Given the description of an element on the screen output the (x, y) to click on. 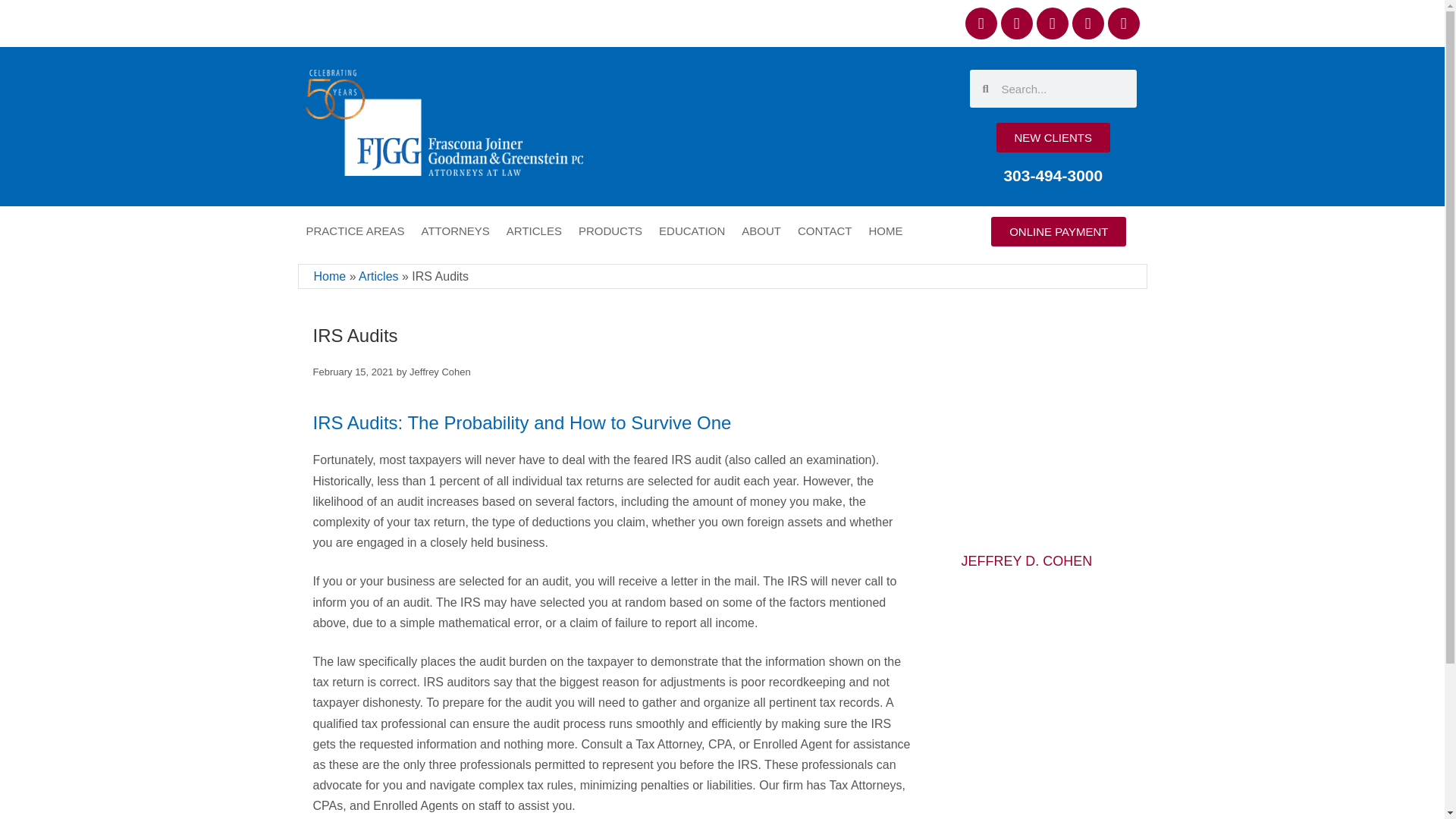
ATTORNEYS (455, 230)
PRACTICE AREAS (354, 230)
NEW CLIENTS (1052, 137)
